Given the description of an element on the screen output the (x, y) to click on. 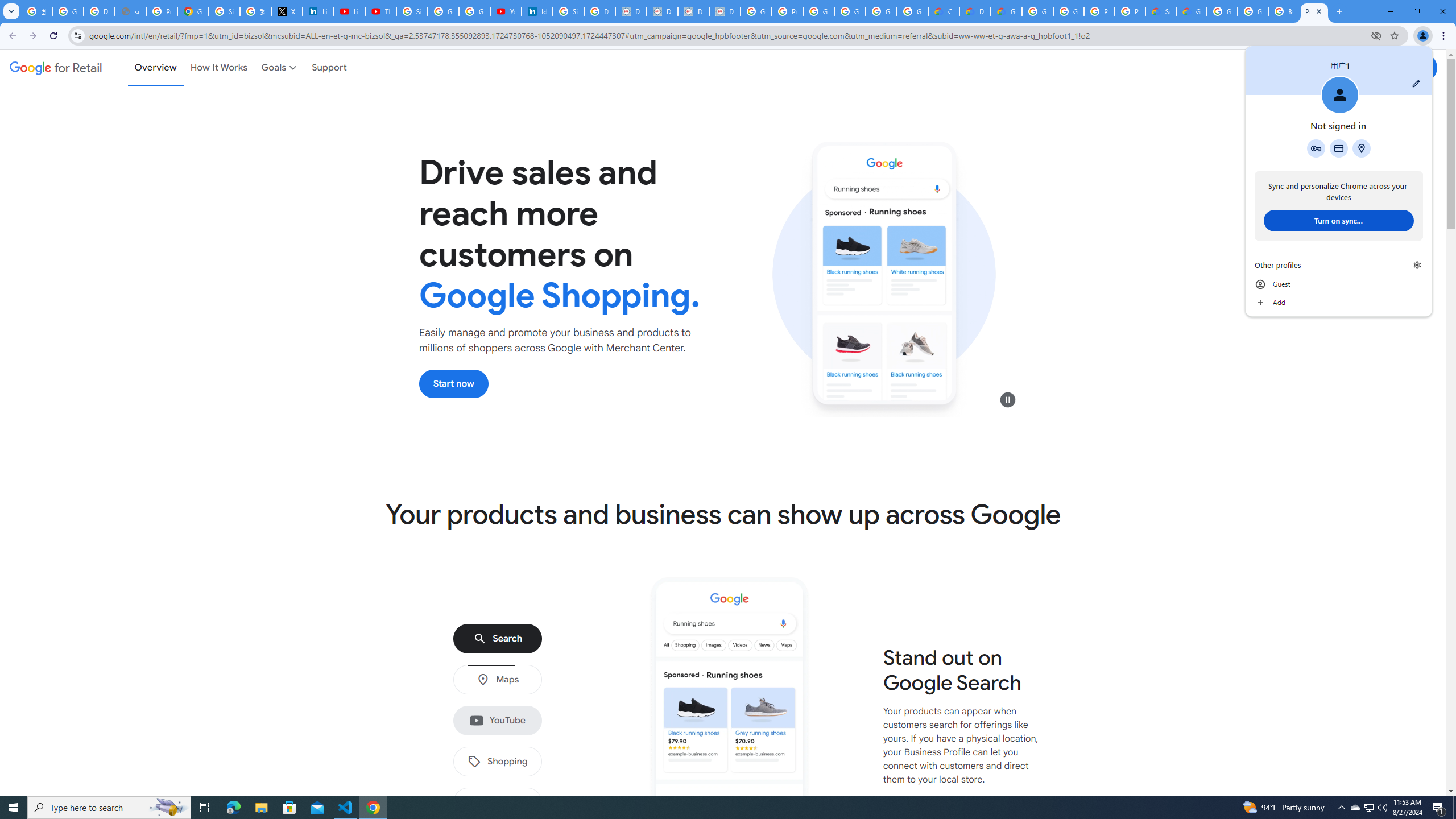
Manage profiles (1417, 265)
LinkedIn - YouTube (349, 11)
Privacy Help Center - Policies Help (161, 11)
How It Works (218, 67)
Support Hub | Google Cloud (1160, 11)
Shopping (496, 761)
support.google.com - Network error (130, 11)
